Given the description of an element on the screen output the (x, y) to click on. 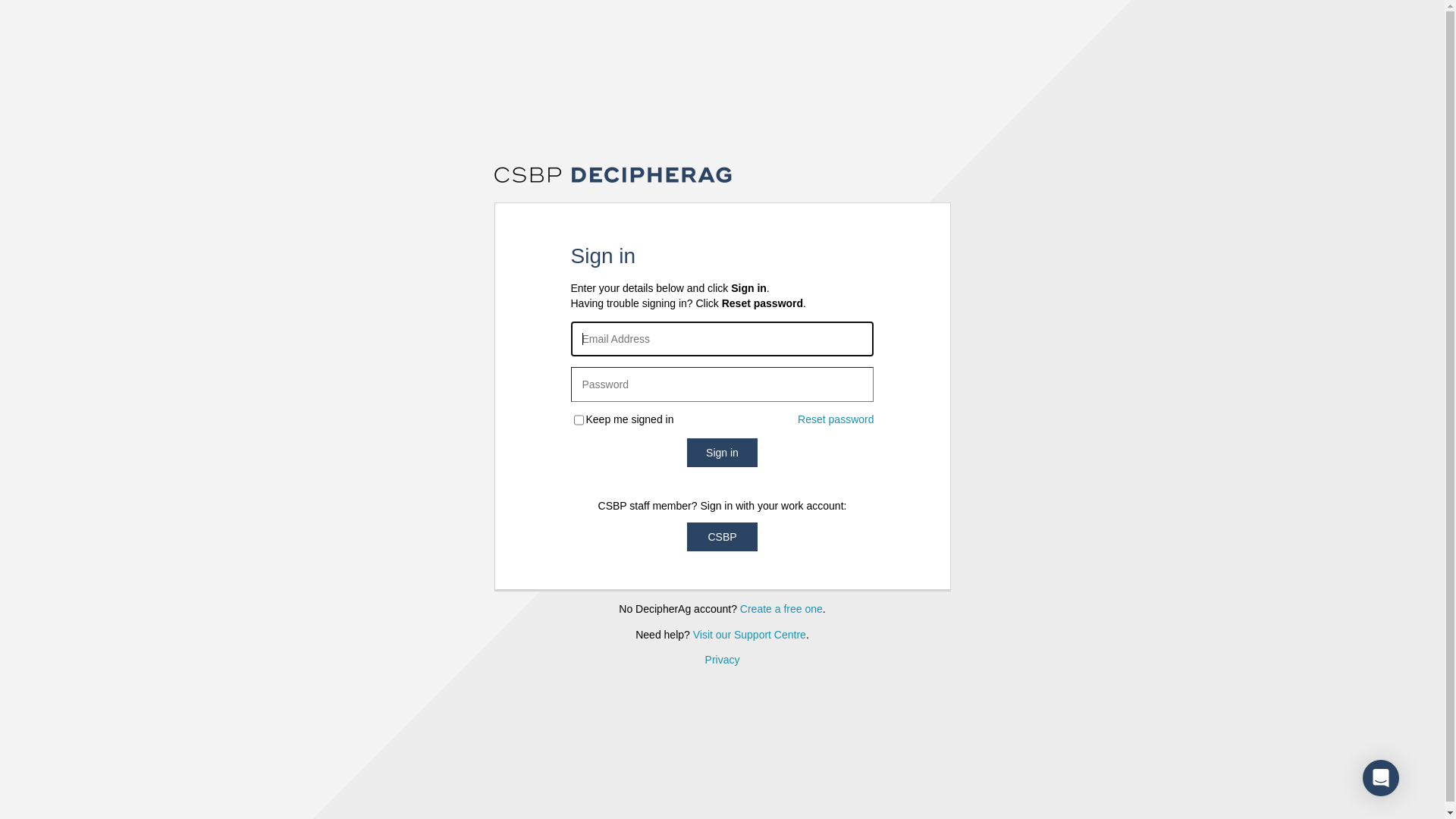
Sign in Element type: text (722, 452)
Please enter a valid email address Element type: hover (721, 338)
Privacy Element type: text (722, 659)
CSBP Element type: text (722, 536)
Reset password Element type: text (835, 419)
Create a free one Element type: text (781, 608)
Visit our Support Centre Element type: text (749, 634)
